Given the description of an element on the screen output the (x, y) to click on. 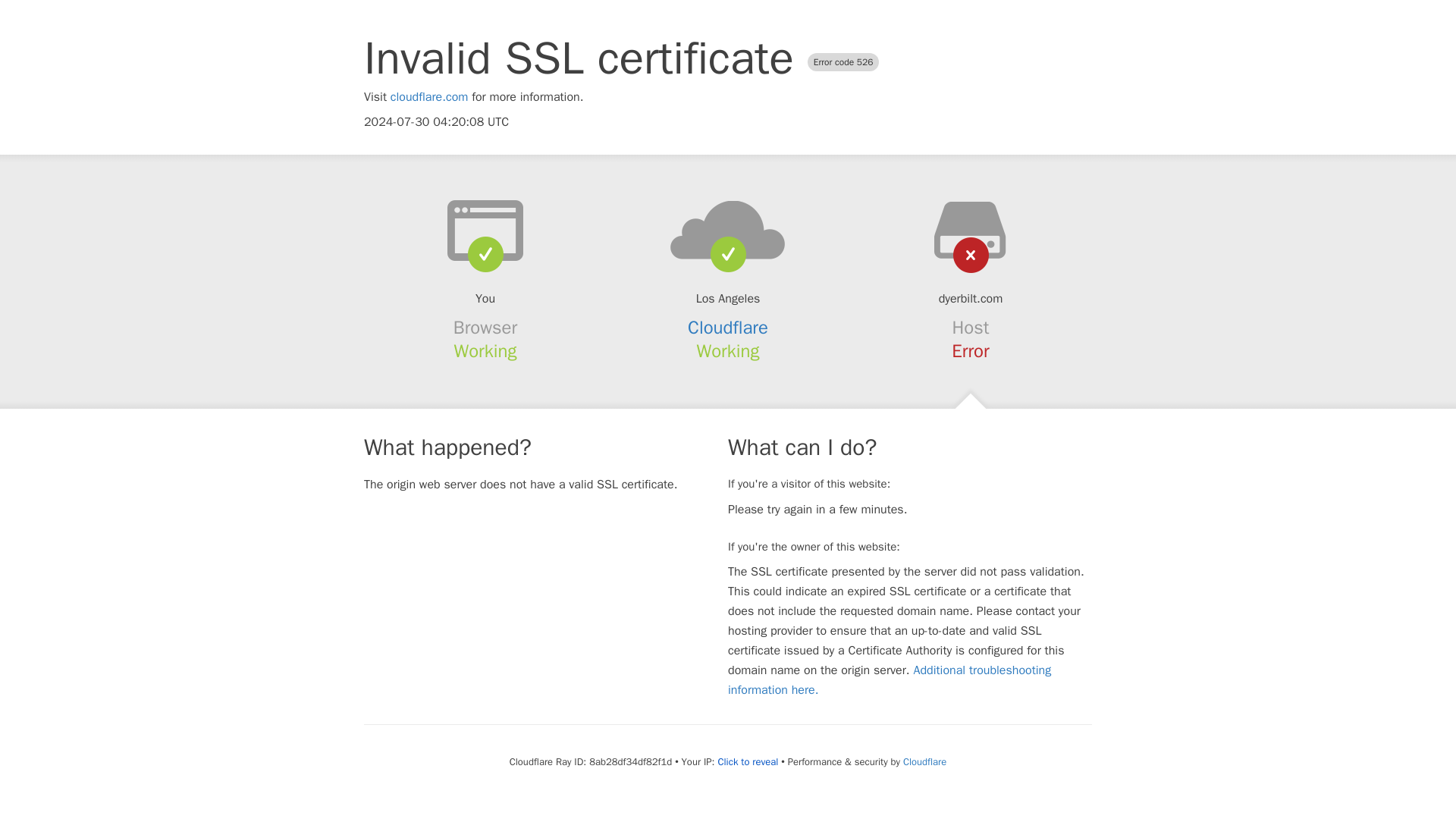
Cloudflare (924, 761)
Additional troubleshooting information here. (889, 679)
Cloudflare (727, 327)
Click to reveal (747, 762)
cloudflare.com (429, 96)
